Given the description of an element on the screen output the (x, y) to click on. 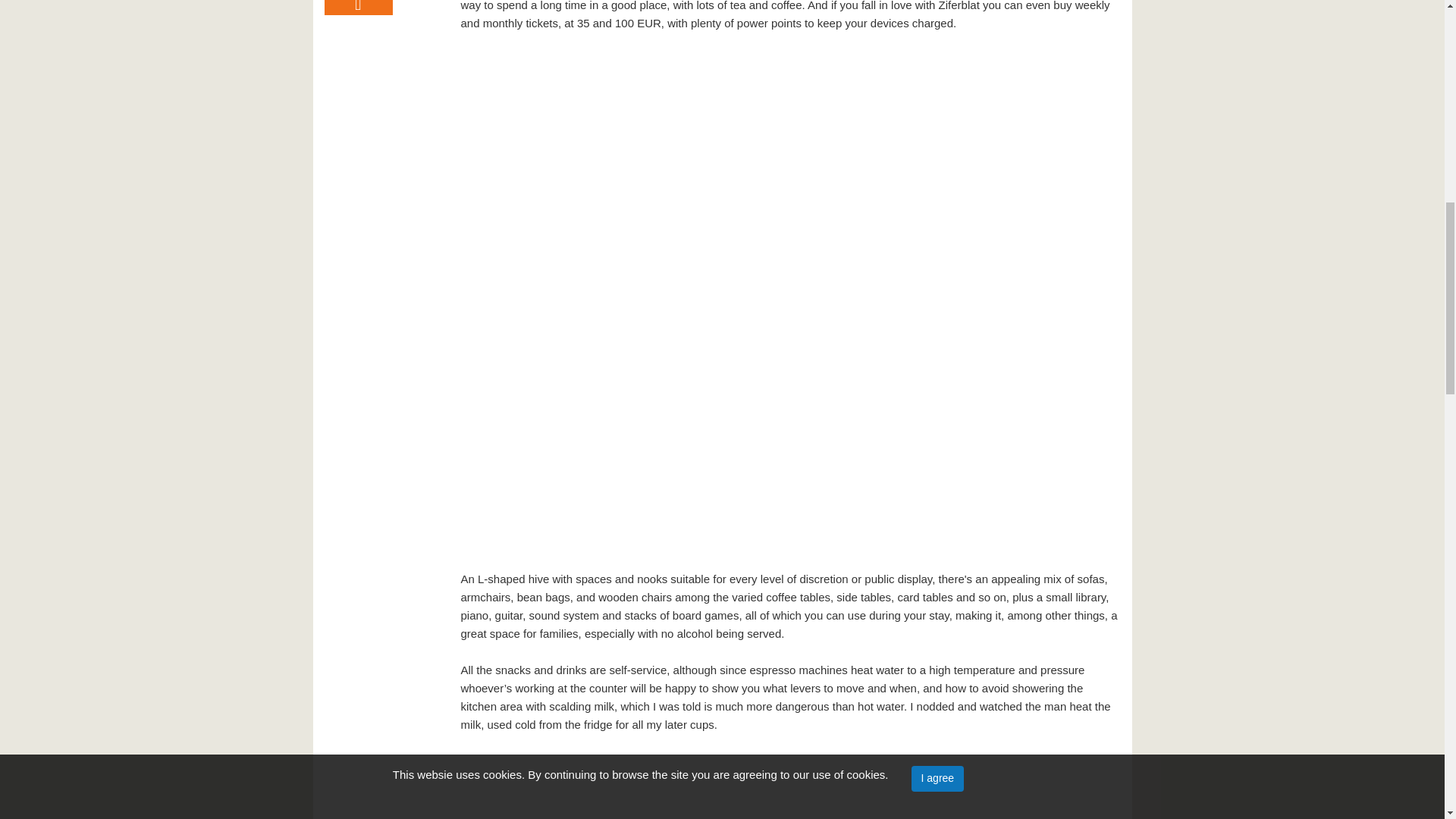
Share (358, 7)
